Given the description of an element on the screen output the (x, y) to click on. 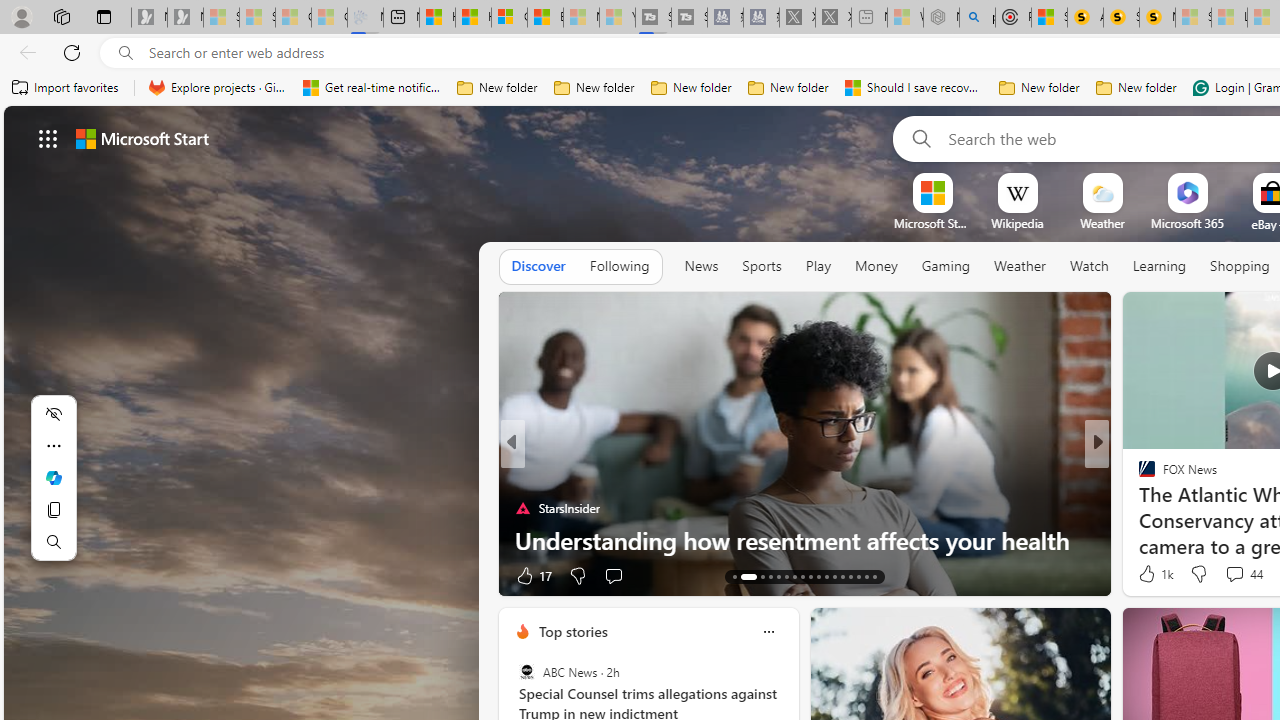
X - Sleeping (833, 17)
Fox Business (1138, 507)
View comments 1 Comment (1241, 574)
View comments 6 Comment (1234, 574)
View comments 4 Comment (1229, 575)
More actions (53, 445)
View comments 3 Comment (1229, 575)
View comments 2 Comment (1234, 574)
The Weather Channel (1138, 475)
